Given the description of an element on the screen output the (x, y) to click on. 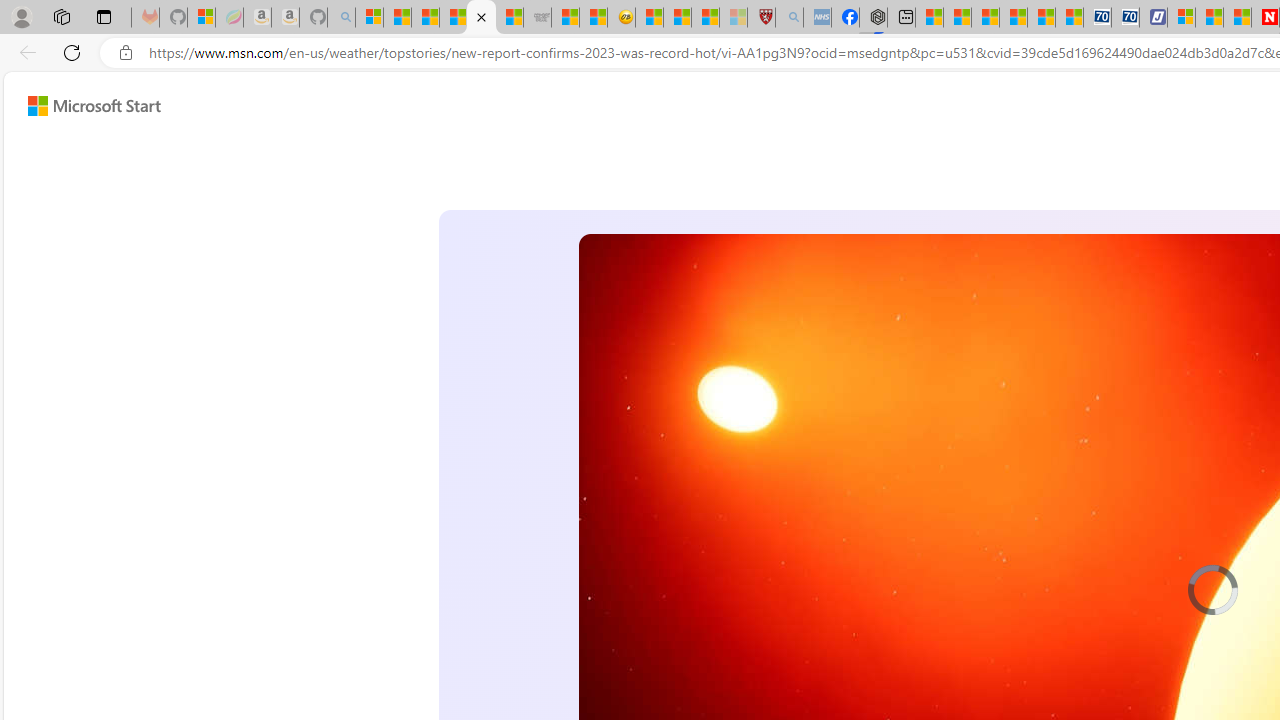
New Report Confirms 2023 Was Record Hot | Watch (481, 17)
Cheap Car Rentals - Save70.com (1097, 17)
Recipes - MSN (649, 17)
